Given the description of an element on the screen output the (x, y) to click on. 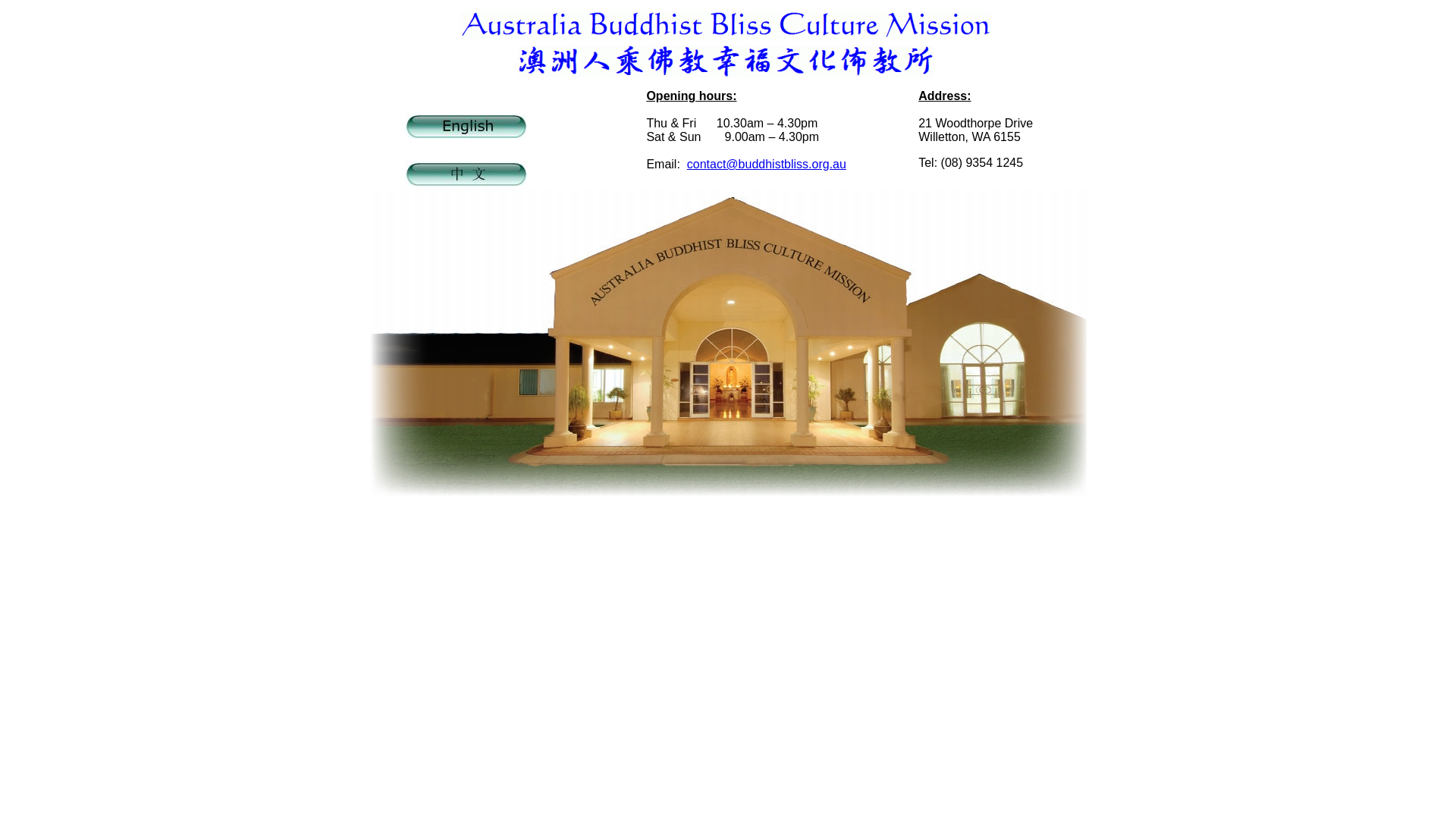
contact@buddhistbliss.org.au Element type: text (766, 163)
